Given the description of an element on the screen output the (x, y) to click on. 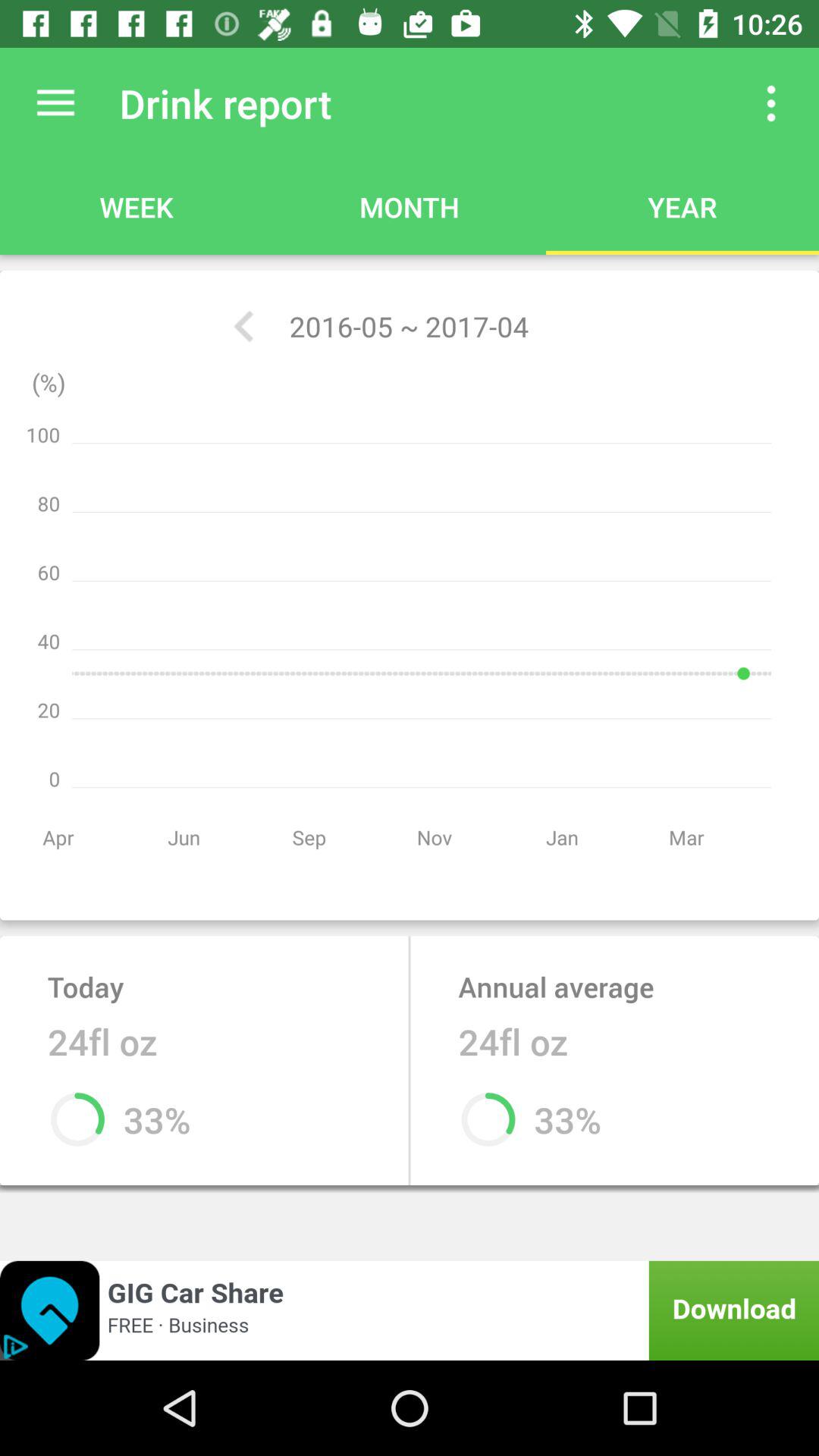
choose the item above the week icon (55, 103)
